Given the description of an element on the screen output the (x, y) to click on. 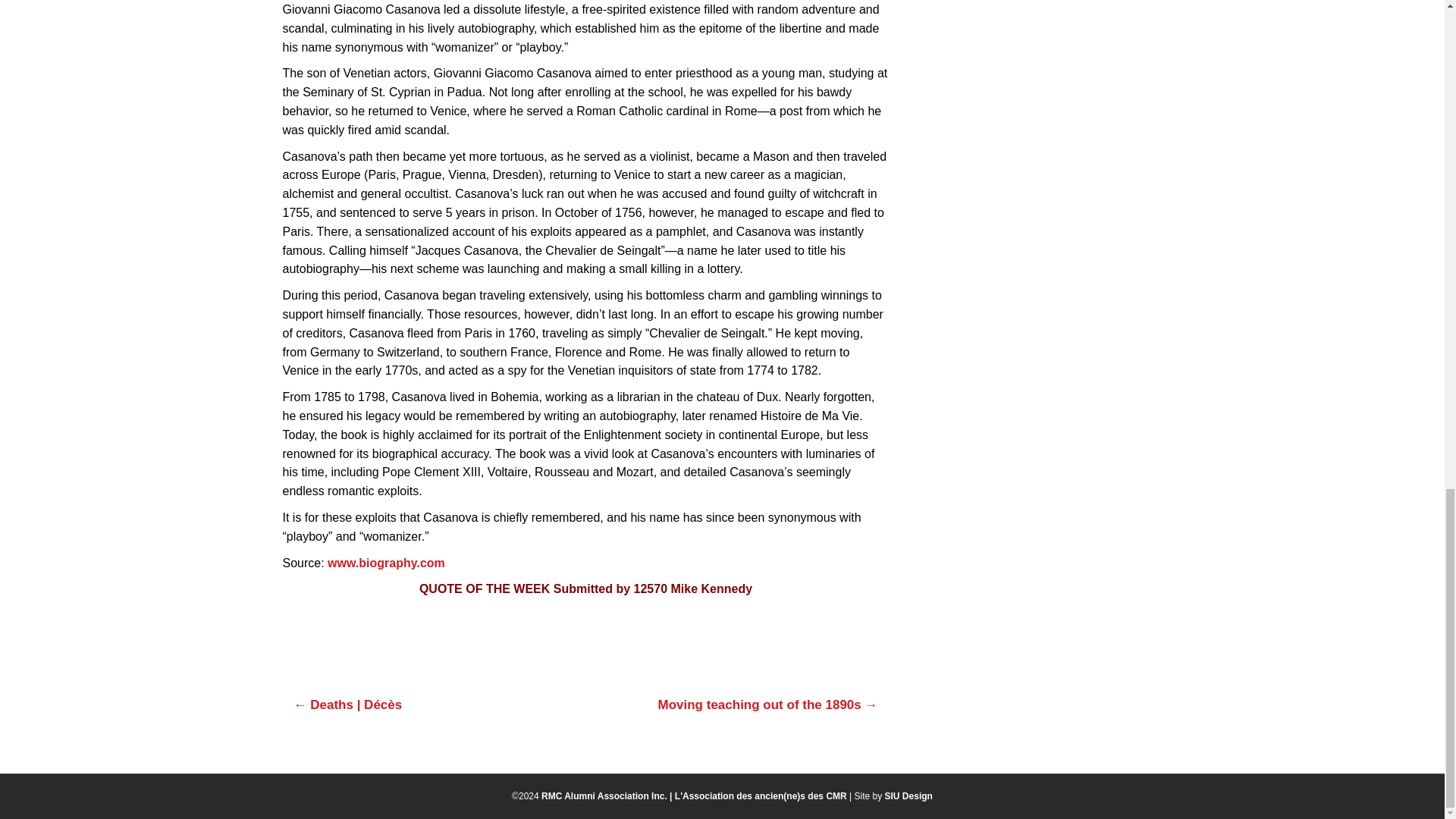
www.biography.com (386, 562)
SIU Design (909, 796)
